Given the description of an element on the screen output the (x, y) to click on. 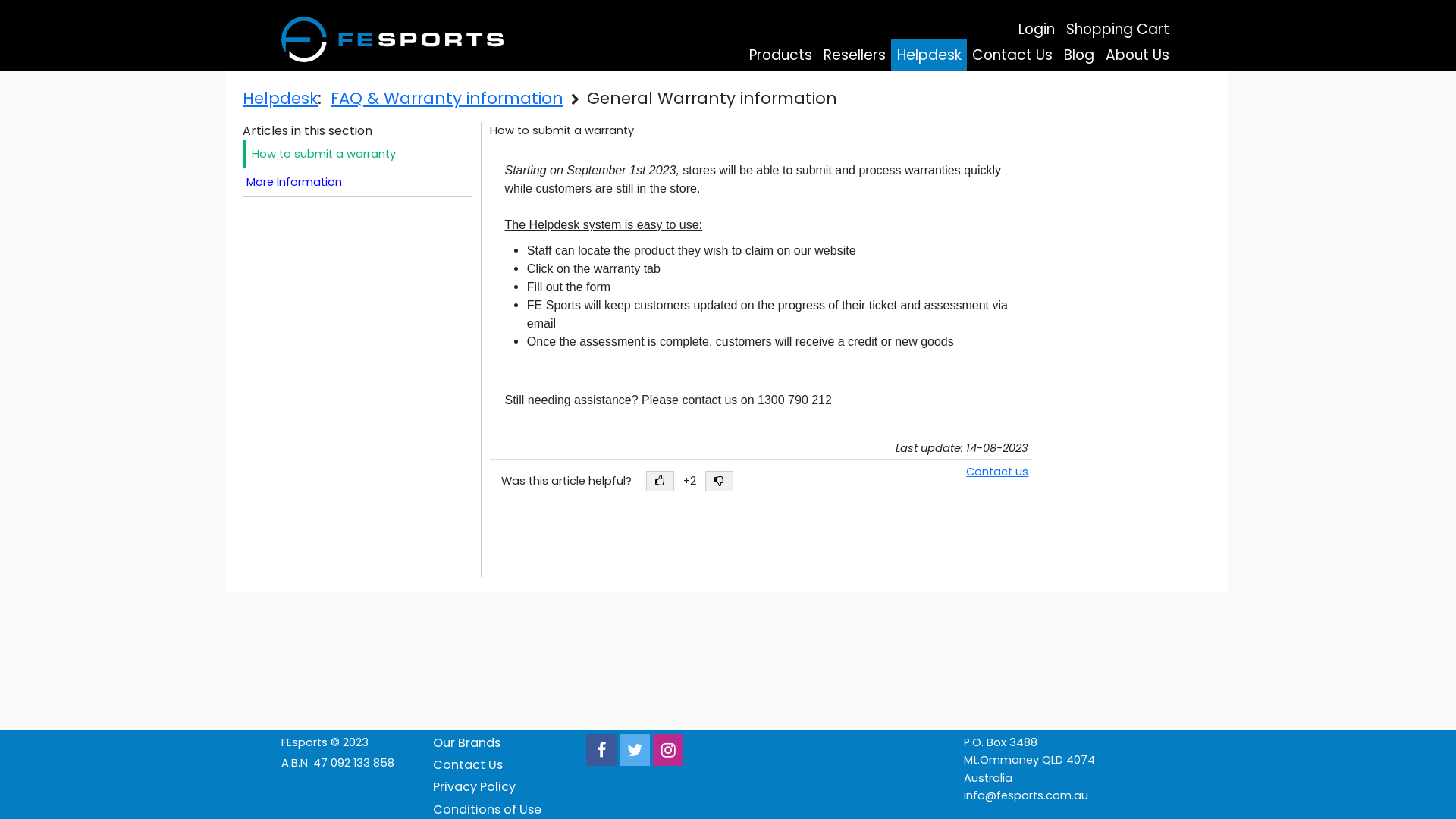
More Information Element type: text (357, 182)
Products Element type: text (780, 54)
Contact Us Element type: text (1012, 54)
Conditions of Use Element type: text (487, 809)
Shopping Cart Element type: text (1117, 29)
Blog Element type: text (1079, 54)
Helpdesk Element type: text (928, 54)
About Us Element type: text (1136, 54)
Our Brands Element type: text (466, 742)
Contact Us Element type: text (467, 764)
How to submit a warranty Element type: text (357, 154)
FAQ & Warranty information Element type: text (446, 98)
Resellers Element type: text (854, 54)
Login Element type: text (1036, 29)
Contact us Element type: text (997, 471)
Privacy Policy Element type: text (474, 786)
Helpdesk Element type: text (279, 98)
